Given the description of an element on the screen output the (x, y) to click on. 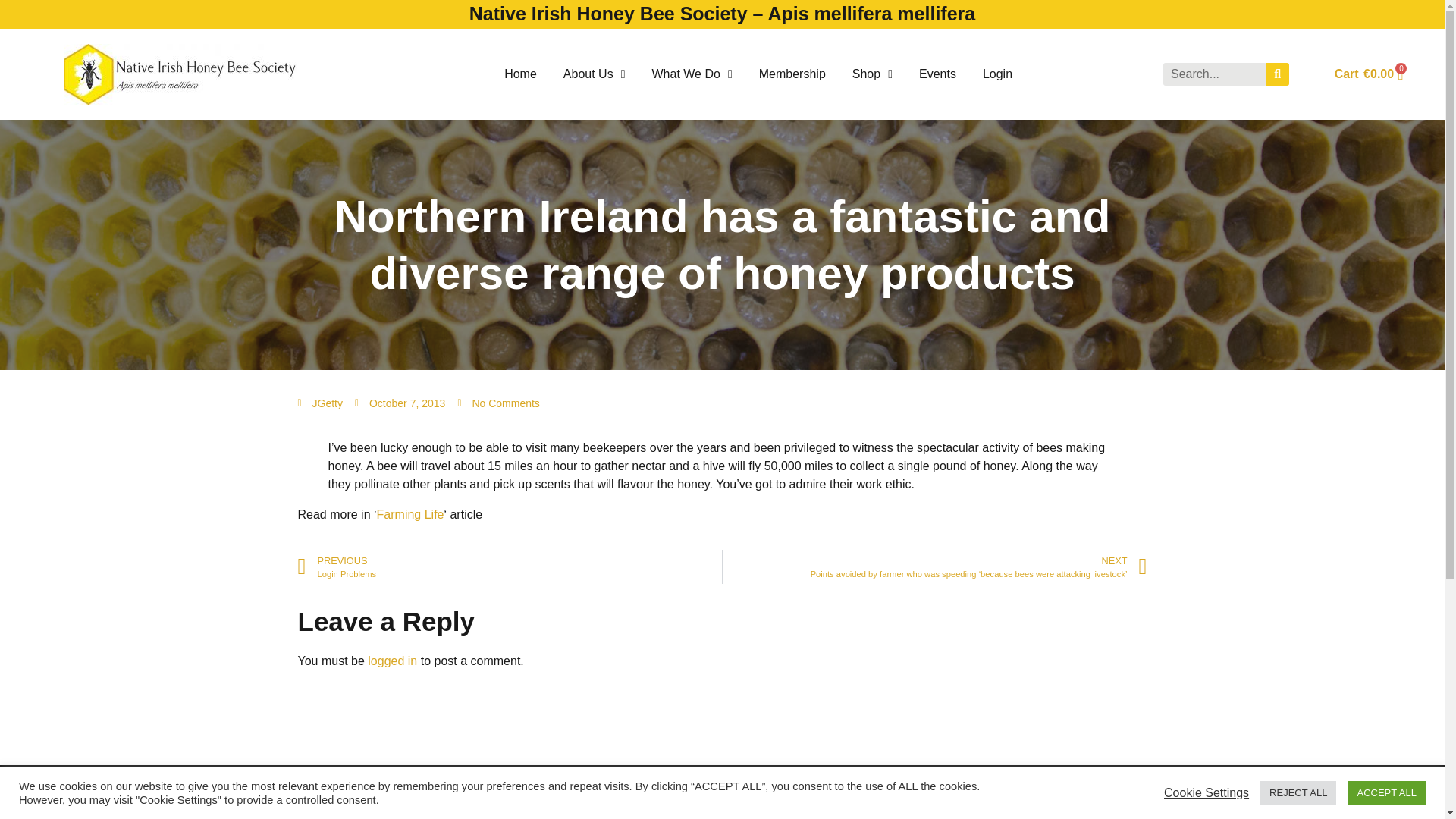
Shop (871, 73)
Home (520, 73)
Events (937, 73)
What We Do (692, 73)
Login (996, 73)
About Us (594, 73)
Membership (791, 73)
